Given the description of an element on the screen output the (x, y) to click on. 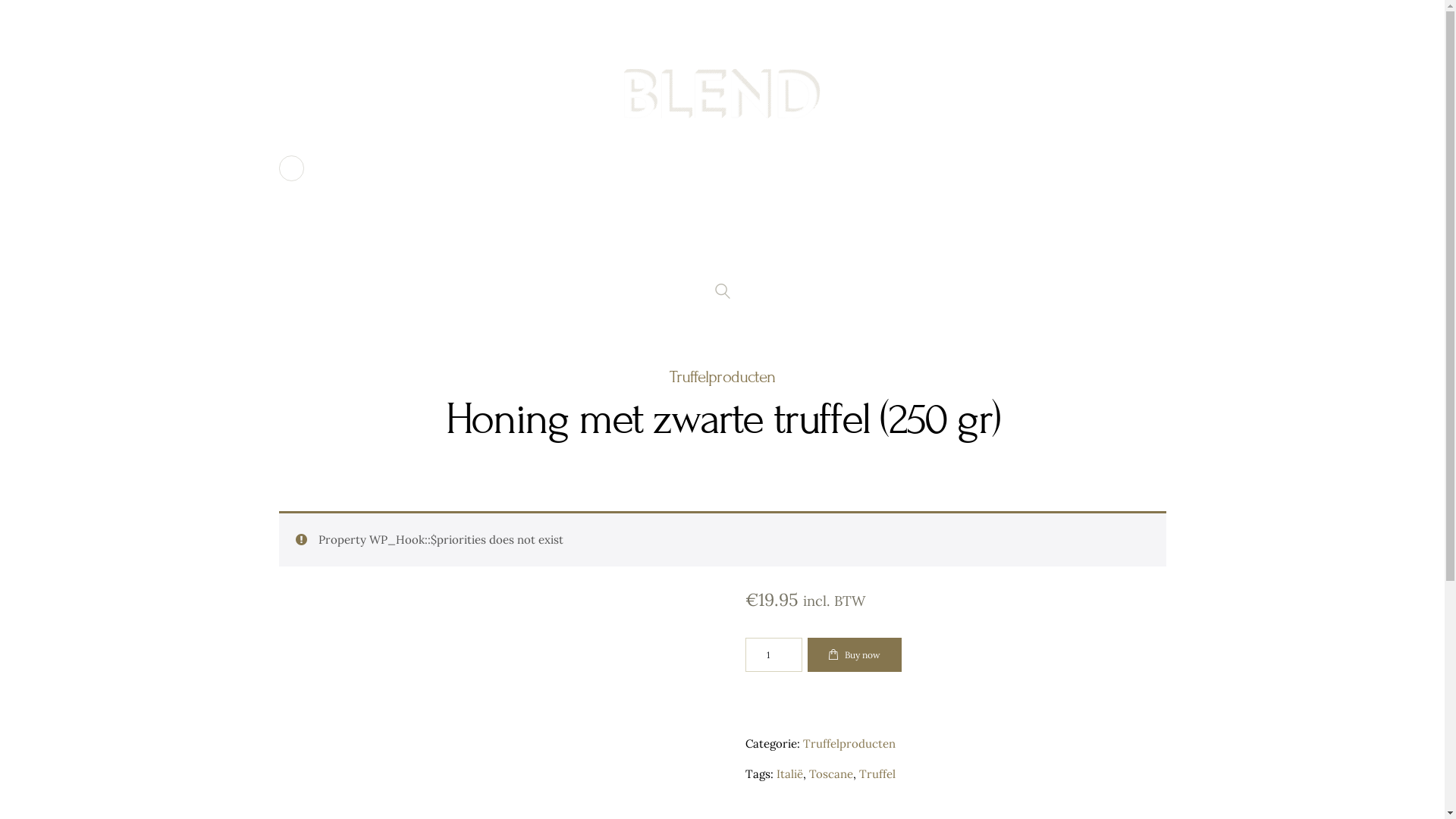
Truffel Element type: text (876, 773)
Truffelproducten Element type: text (848, 743)
OVER ONS Element type: text (487, 248)
MIJN ACCOUNT Element type: text (978, 248)
Buy now Element type: text (853, 654)
EVENTS Element type: text (813, 248)
Truffelproducten Element type: text (722, 376)
ASSORTIMENT Element type: text (710, 248)
CONTACT Element type: text (903, 248)
Aantal Element type: hover (772, 654)
WIJNHUIZEN Element type: text (592, 248)
Toscane Element type: text (830, 773)
